Given the description of an element on the screen output the (x, y) to click on. 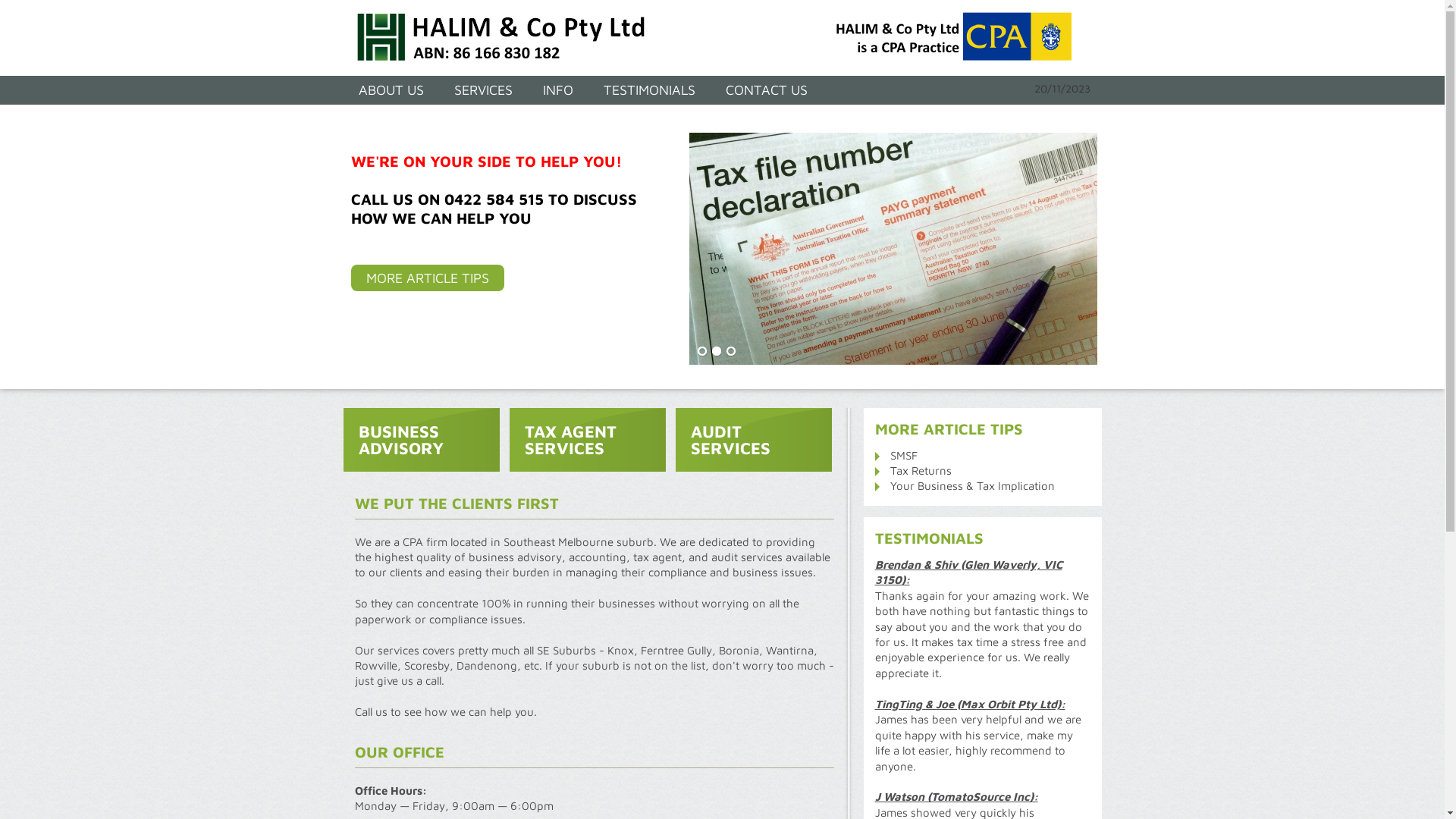
INFO Element type: text (557, 89)
SMSF Element type: text (903, 454)
TAX AGENT SERVICES Element type: text (587, 439)
Tax Returns Element type: text (920, 470)
ABOUT US Element type: text (390, 89)
TESTIMONIALS Element type: text (649, 89)
CONTACT US Element type: text (765, 89)
MORE ARTICLE TIPS Element type: text (426, 277)
Your Business & Tax Implication Element type: text (972, 485)
AUDIT SERVICES Element type: text (752, 439)
BUSINESS ADVISORY Element type: text (420, 439)
SERVICES Element type: text (482, 89)
HALIM & CO PTY LTD Element type: text (729, 37)
